Given the description of an element on the screen output the (x, y) to click on. 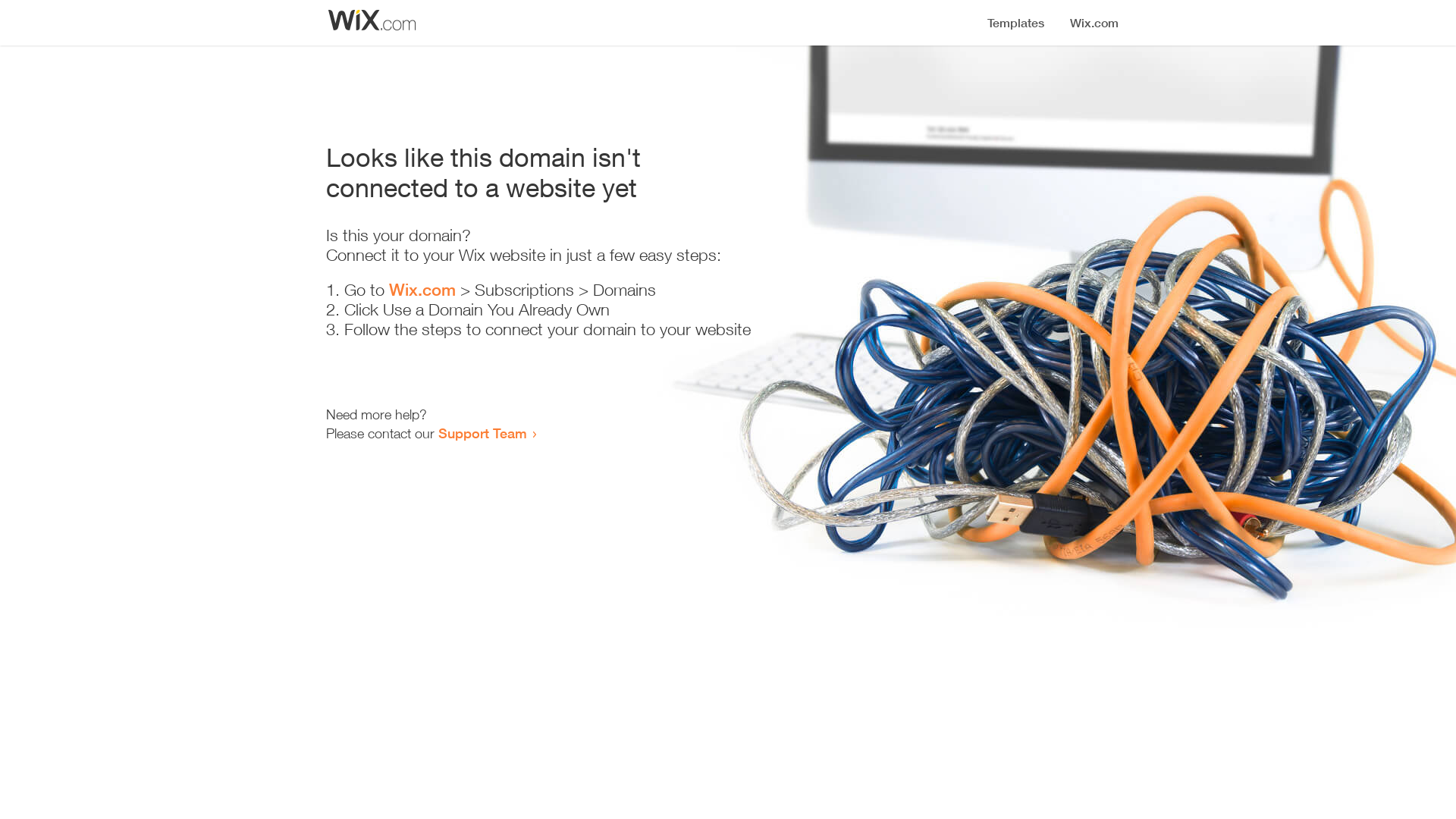
Support Team Element type: text (482, 432)
Wix.com Element type: text (422, 289)
